Given the description of an element on the screen output the (x, y) to click on. 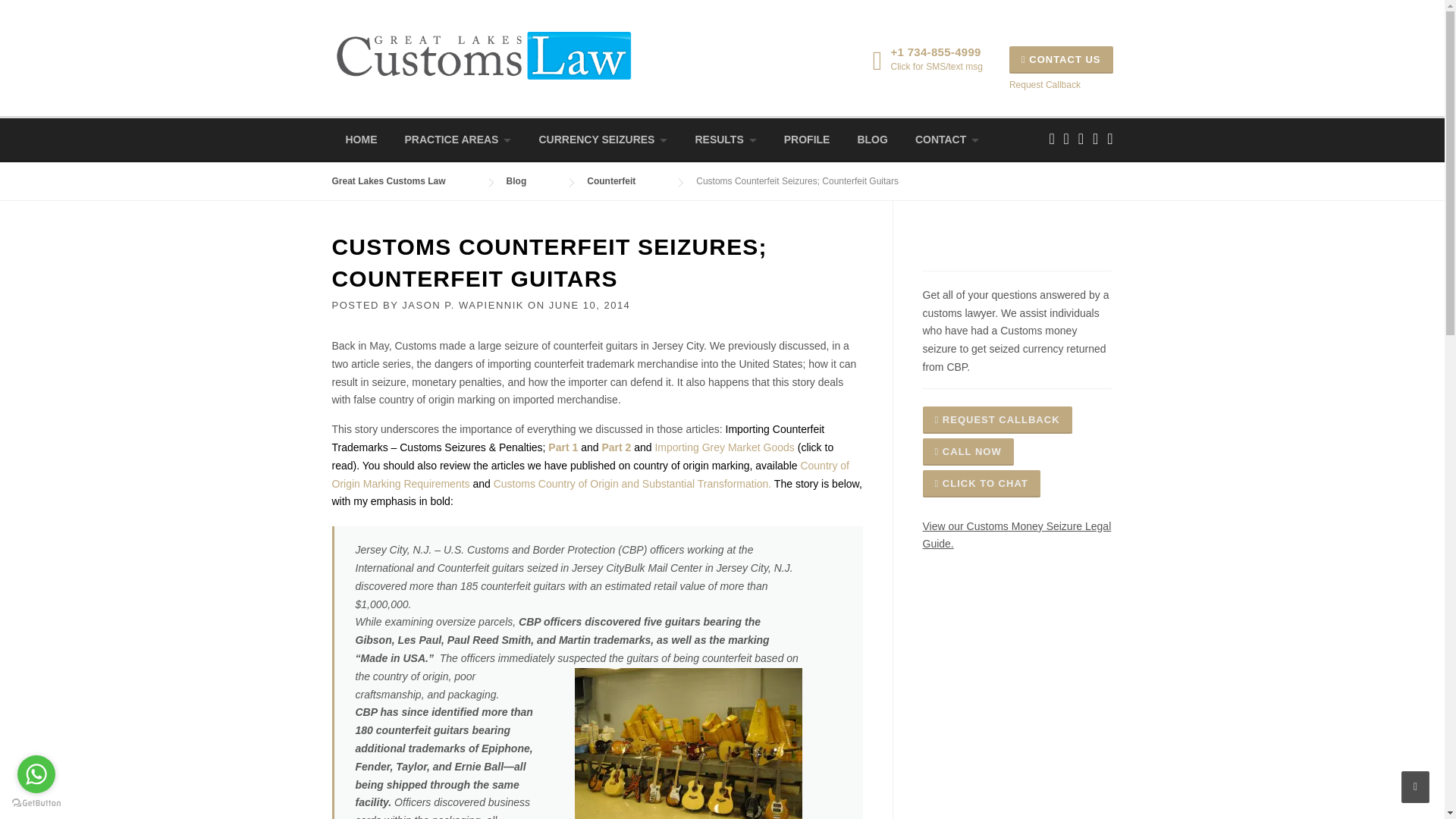
Country of Origin Marking Requirements (590, 474)
CONTACT US (1061, 59)
PRACTICE AREAS (458, 139)
Request Callback (1044, 84)
Great Lakes Customs Law (482, 54)
Go to Blog. (531, 181)
CURRENCY SEIZURES (602, 139)
HOME (361, 139)
Go to the Counterfeit category archives. (625, 181)
Go to Great Lakes Customs Law. (403, 181)
